Given the description of an element on the screen output the (x, y) to click on. 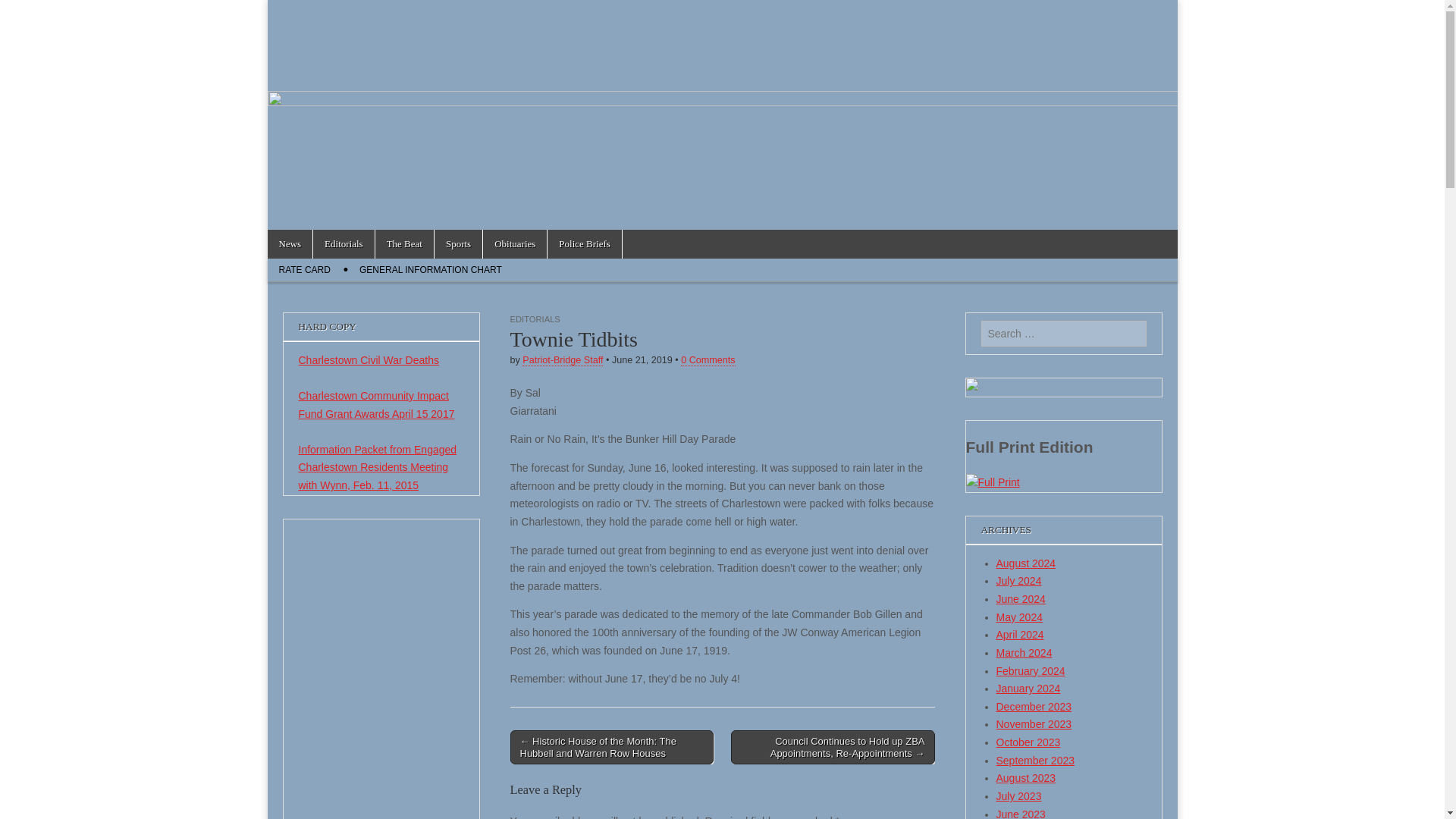
GENERAL INFORMATION CHART (430, 269)
Charlestown Community Impact Fund Grant Awards April 15 2017 (376, 404)
Search (23, 12)
Obituaries (515, 244)
Police Briefs (584, 244)
Posts by Patriot-Bridge Staff (562, 360)
Editorials (343, 244)
RATE CARD (303, 269)
